Given the description of an element on the screen output the (x, y) to click on. 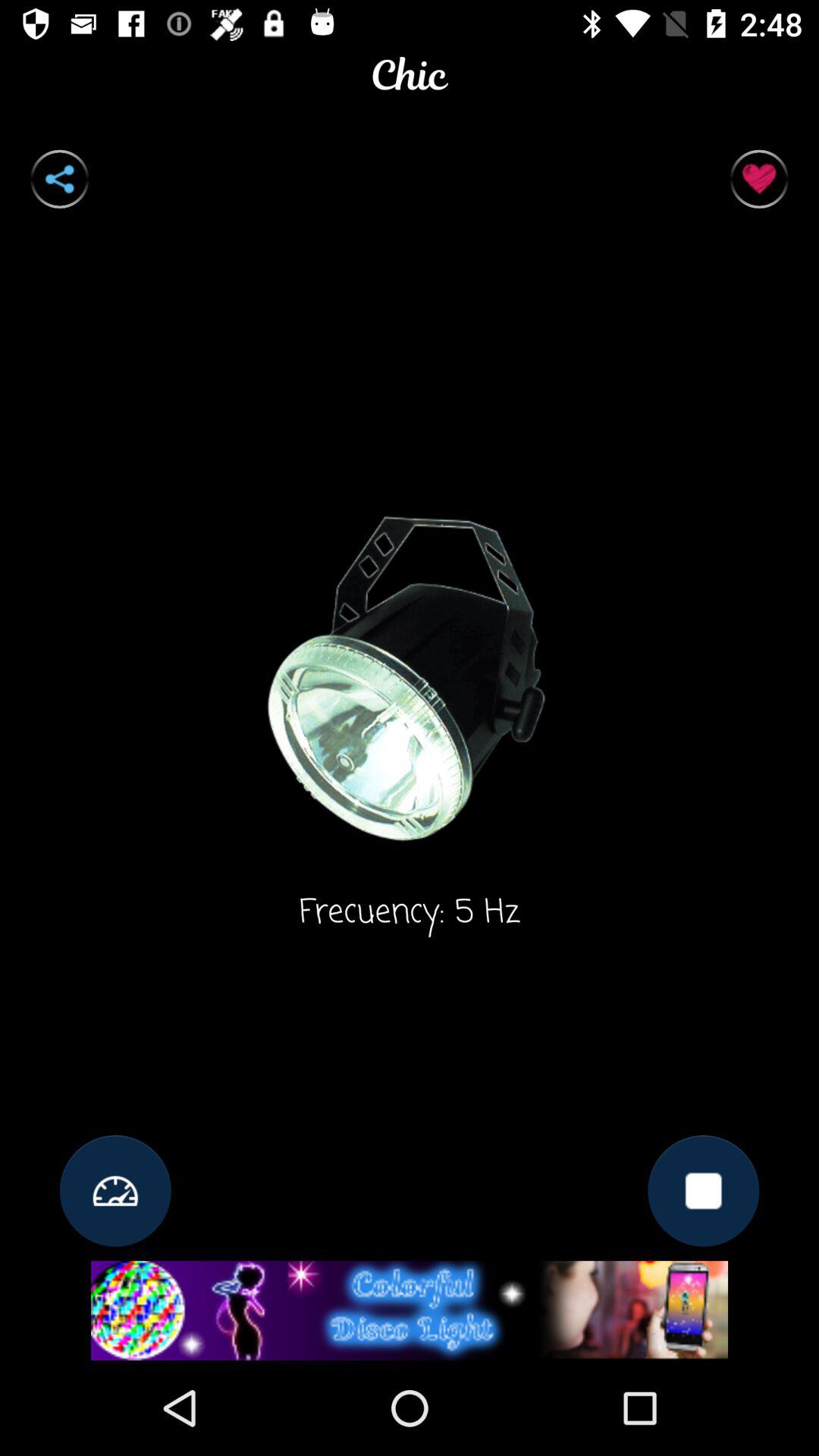
connect to bluetooth (59, 178)
